Given the description of an element on the screen output the (x, y) to click on. 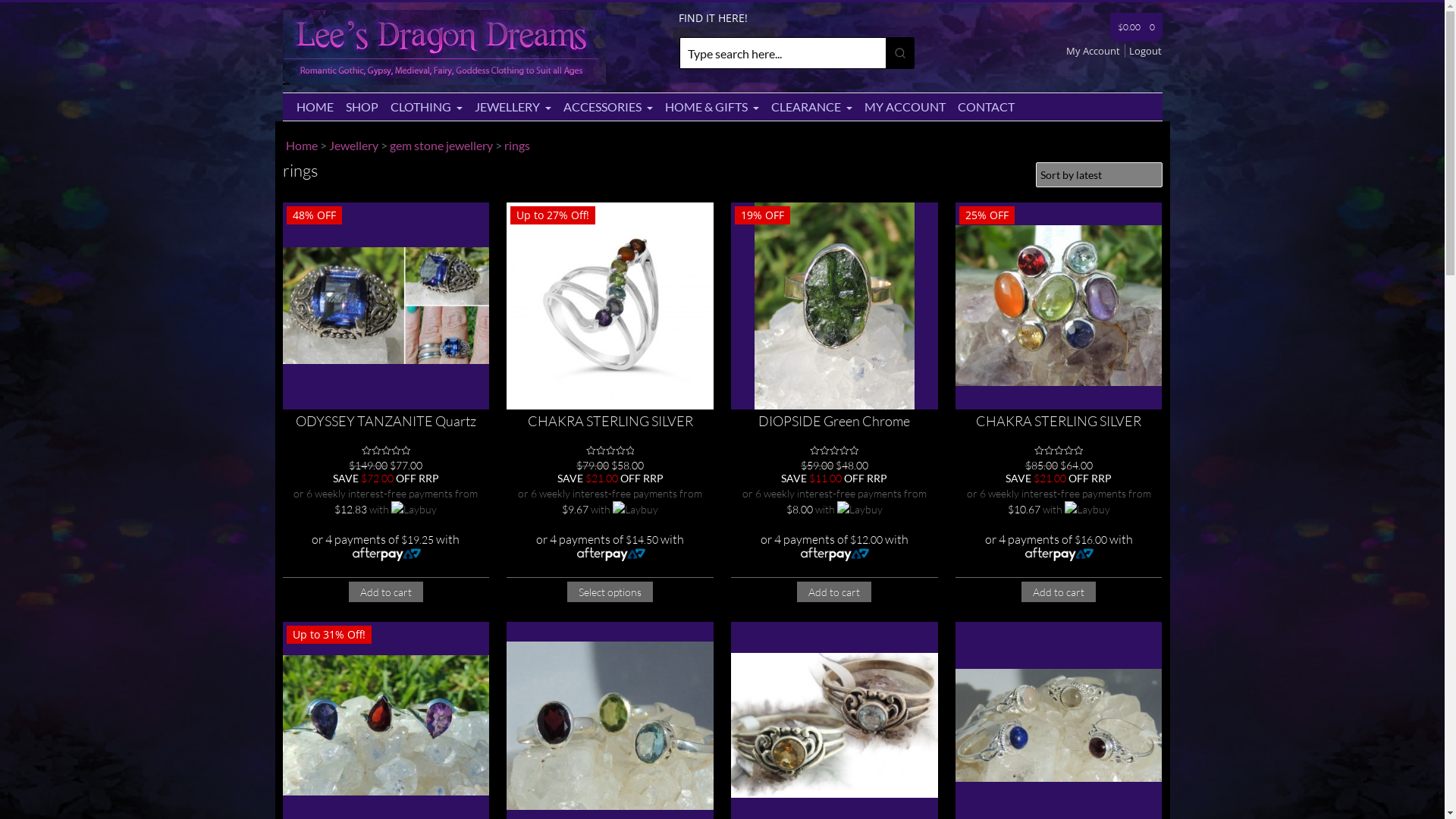
HOME & GIFTS Element type: text (711, 106)
ACCESSORIES Element type: text (607, 106)
Add to cart Element type: text (834, 591)
gem stone jewellery Element type: text (440, 145)
No Rating Yet Element type: hover (833, 450)
Jewellery Element type: text (353, 145)
Add to cart Element type: text (385, 591)
No Rating Yet Element type: hover (610, 450)
Home Element type: text (300, 145)
MY ACCOUNT Element type: text (904, 106)
SHOP Element type: text (361, 106)
Add to cart Element type: text (1058, 591)
HOME Element type: text (313, 106)
Logout Element type: text (1145, 50)
CONTACT Element type: text (984, 106)
$0.00 0 Element type: text (1136, 26)
Lee's Dragon Dreams Element type: hover (443, 80)
CLEARANCE Element type: text (810, 106)
My Account Element type: text (1095, 50)
No Rating Yet Element type: hover (1058, 450)
No Rating Yet Element type: hover (385, 450)
JEWELLERY Element type: text (512, 106)
CLOTHING Element type: text (425, 106)
Select options Element type: text (609, 591)
